Given the description of an element on the screen output the (x, y) to click on. 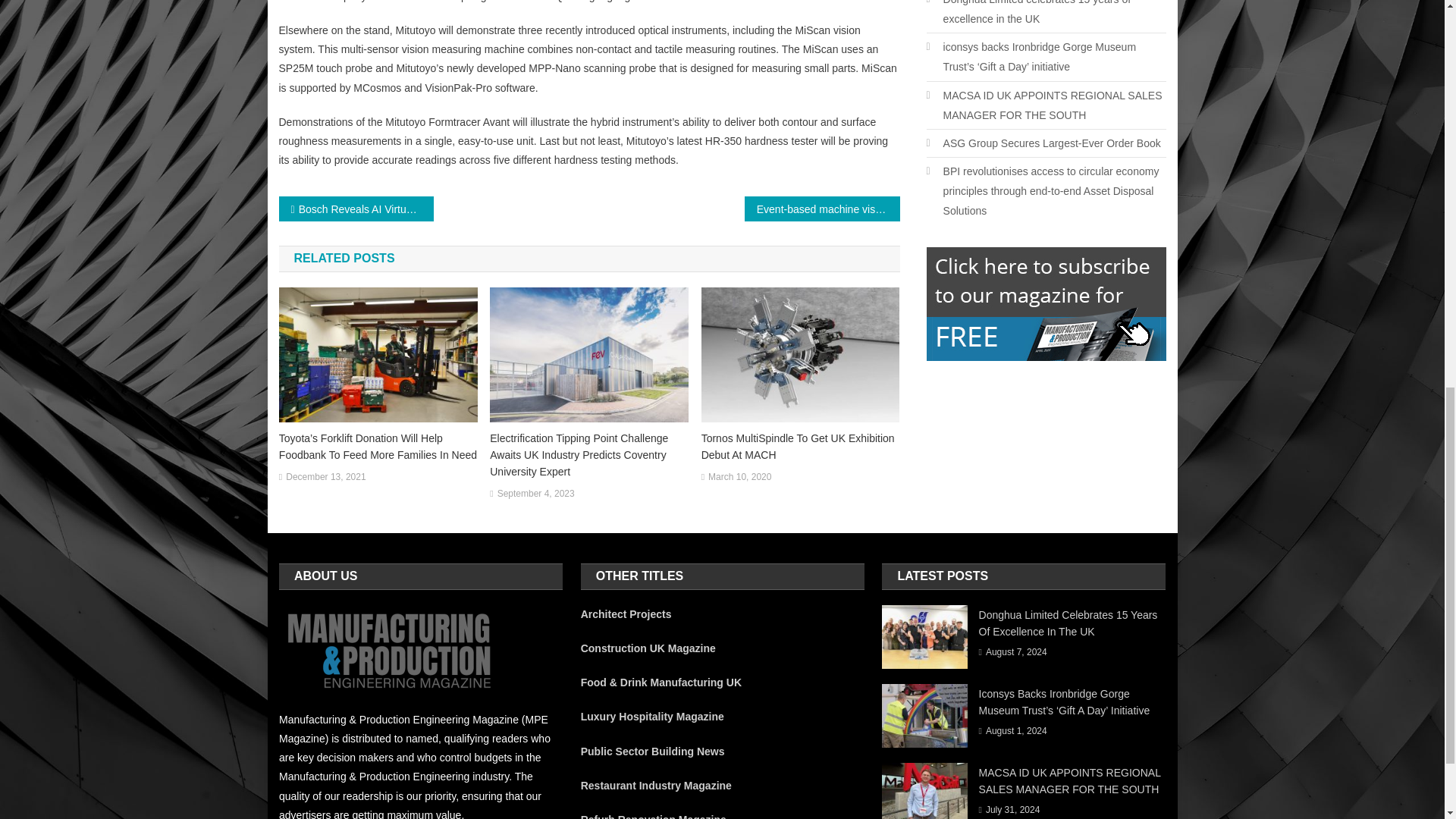
March 10, 2020 (739, 477)
Bosch Reveals AI Virtual Visor For Improved Driver Safety (356, 208)
Tornos MultiSpindle To Get UK Exhibition Debut At MACH (800, 446)
Event-based machine vision in Industry 4.0 applications (821, 208)
December 13, 2021 (325, 477)
September 4, 2023 (536, 494)
Donghua Limited celebrates 15 years of excellence in the UK (1046, 14)
